Given the description of an element on the screen output the (x, y) to click on. 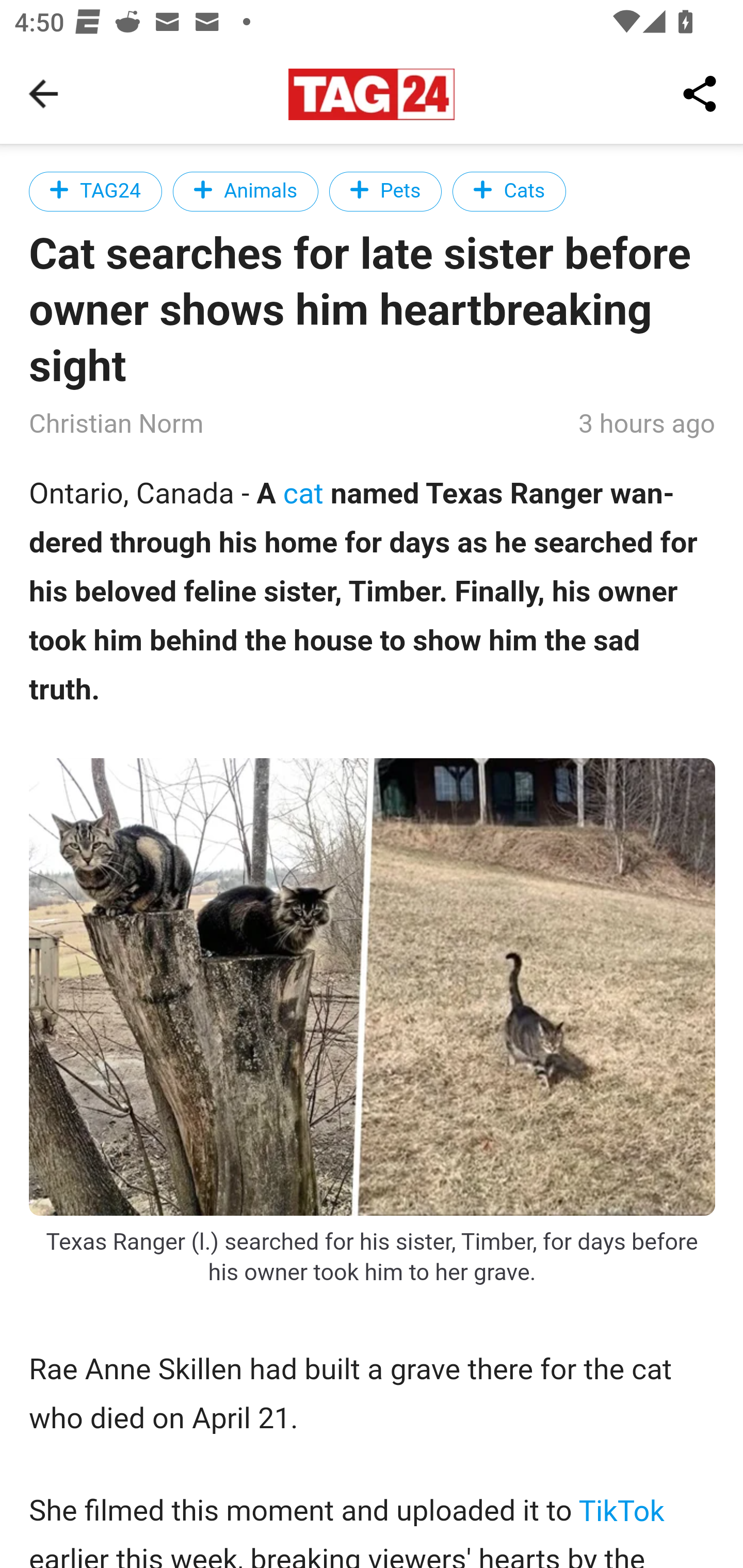
TAG24 (95, 191)
Animals (245, 191)
Pets (385, 191)
Cats (508, 191)
cat (303, 492)
TikTok (622, 1511)
